Given the description of an element on the screen output the (x, y) to click on. 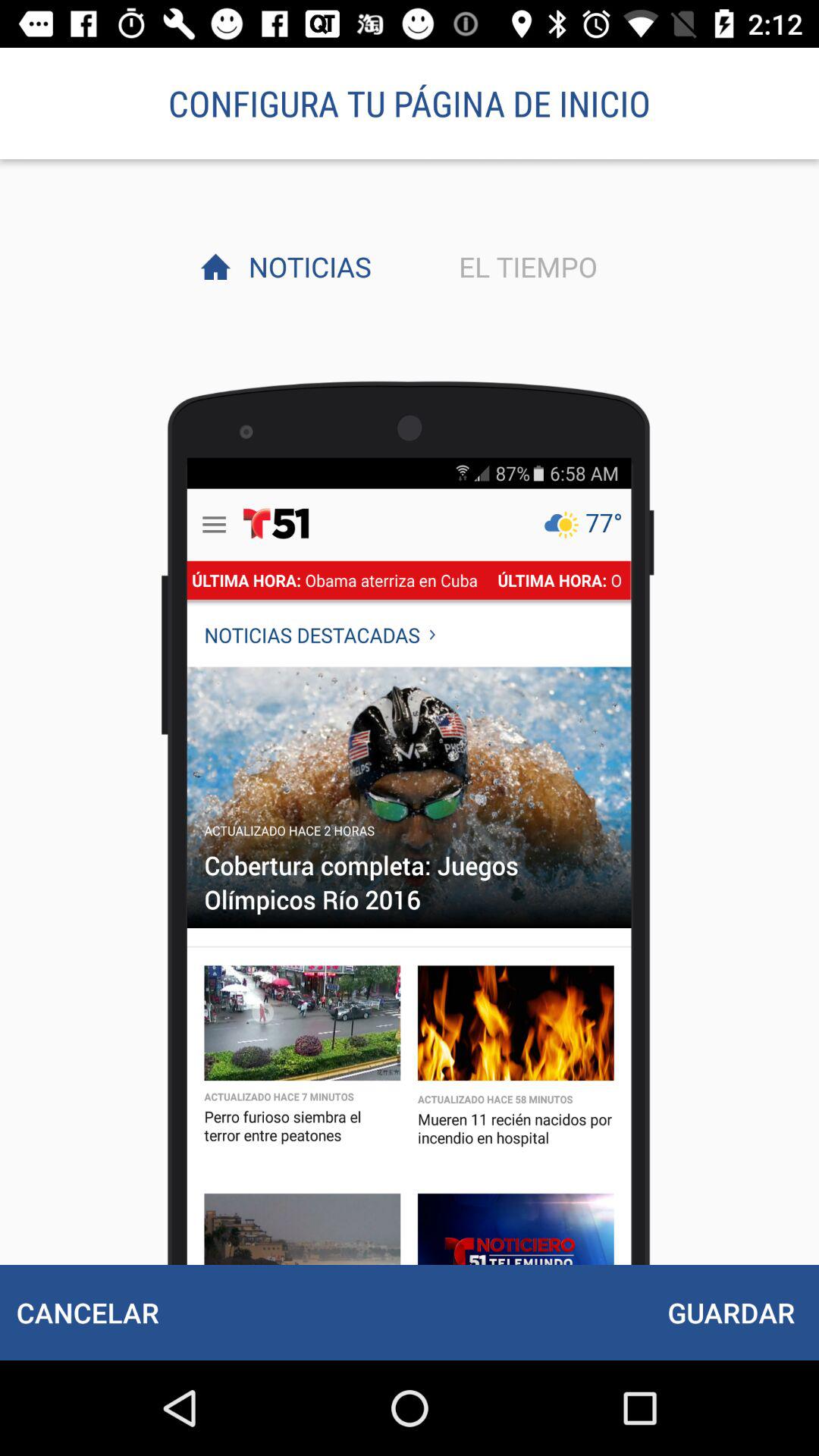
jump until the guardar item (731, 1312)
